Given the description of an element on the screen output the (x, y) to click on. 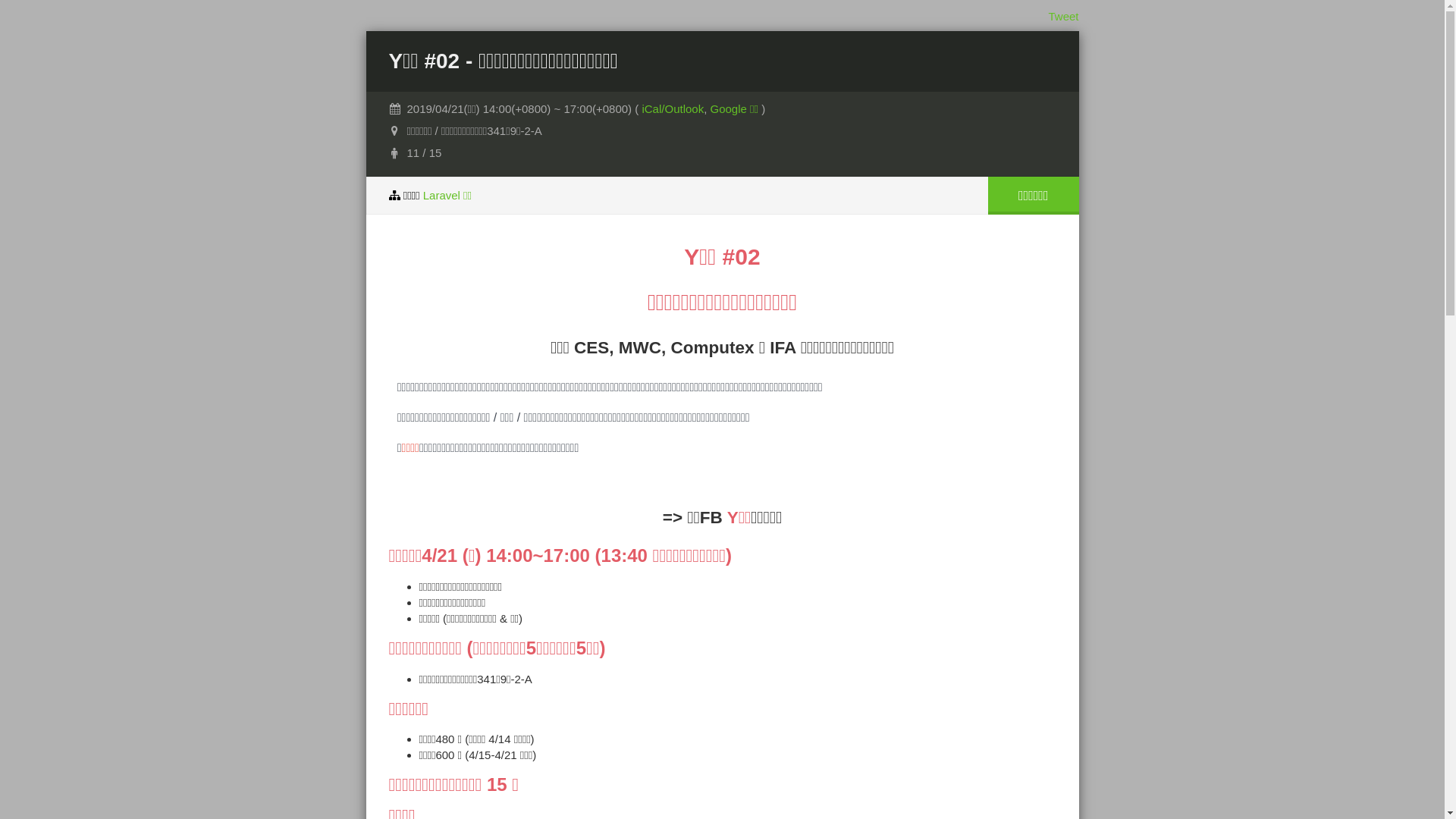
iCal/Outlook Element type: text (672, 108)
Tweet Element type: text (1063, 15)
